Given the description of an element on the screen output the (x, y) to click on. 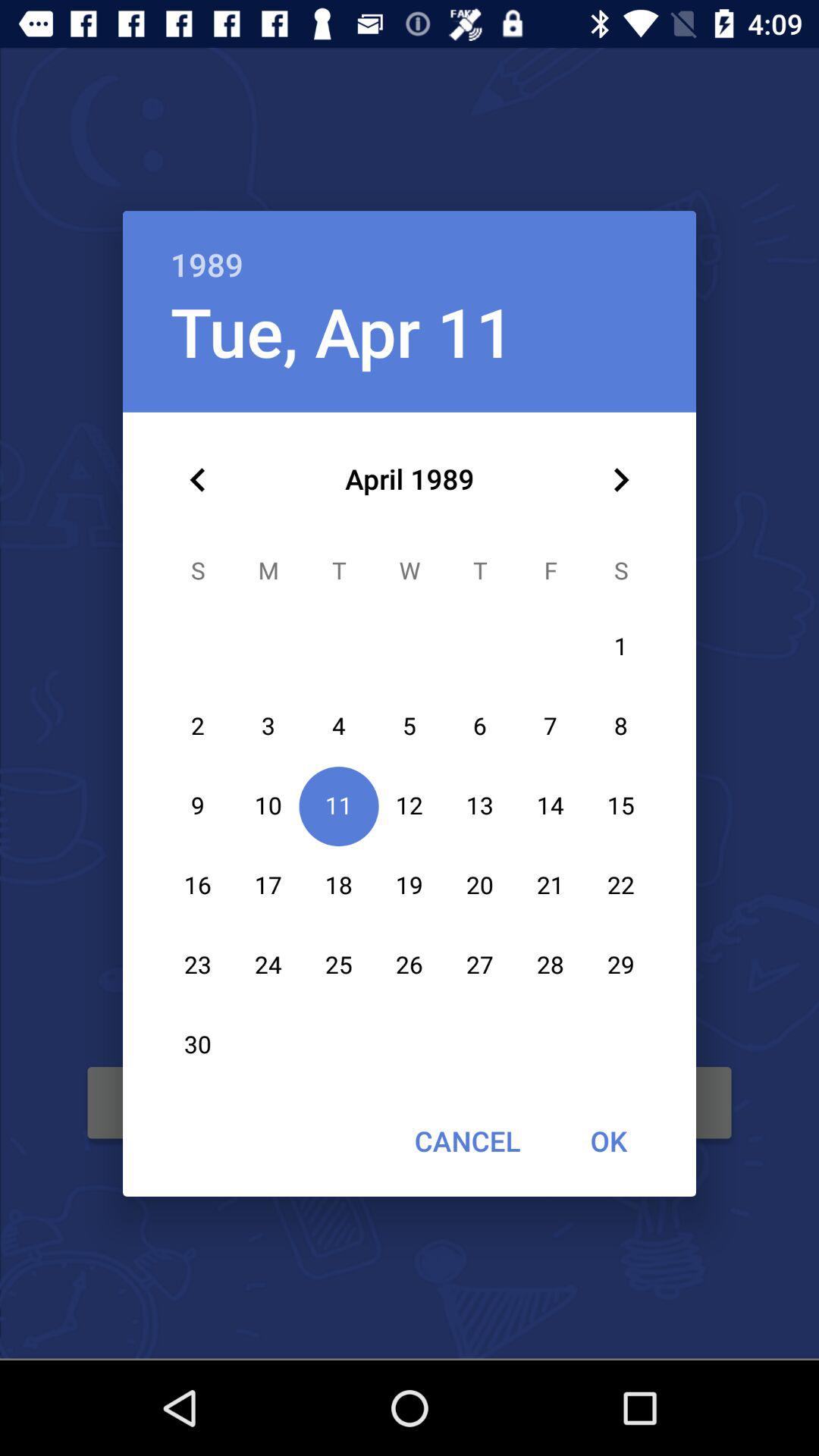
click the item to the right of the cancel (608, 1140)
